Given the description of an element on the screen output the (x, y) to click on. 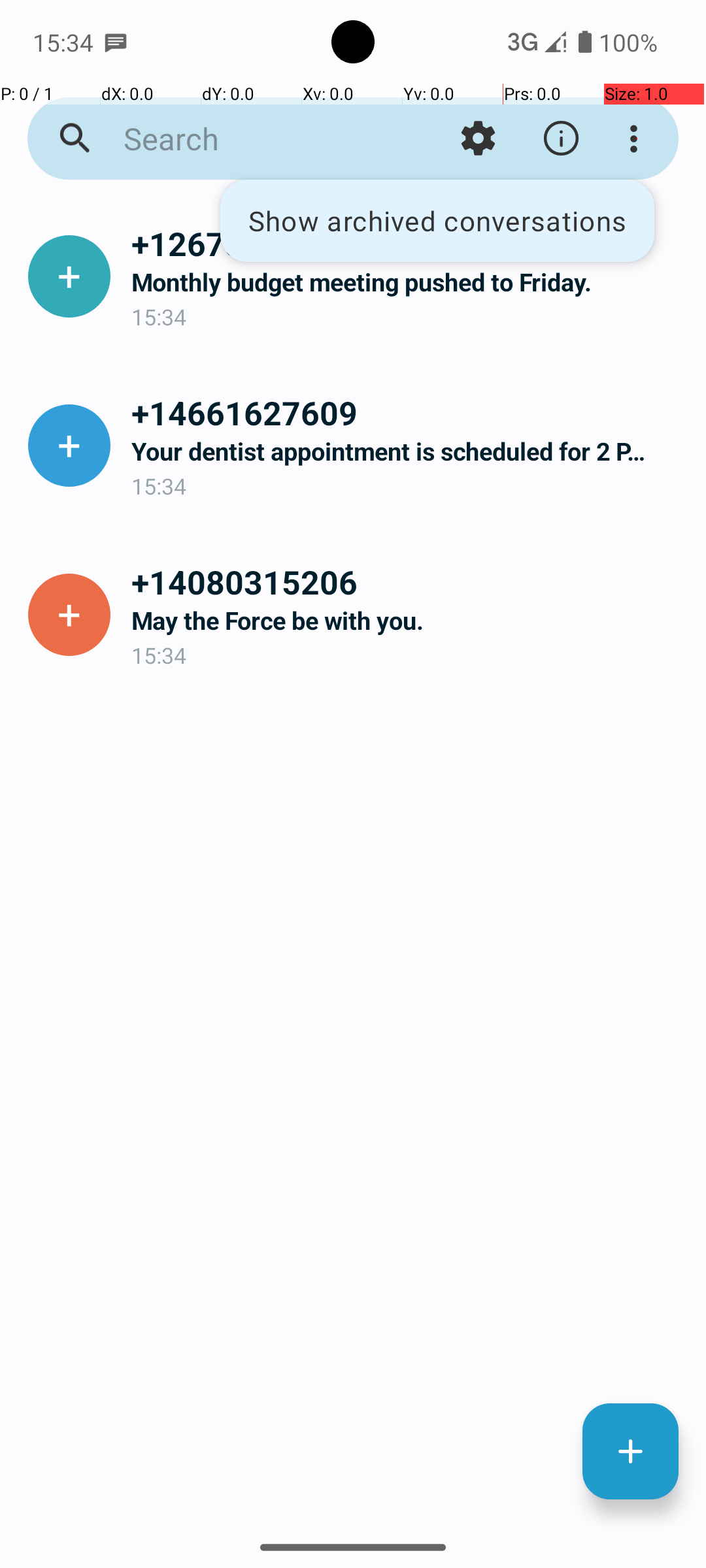
Show archived conversations Element type: android.widget.TextView (436, 220)
